Given the description of an element on the screen output the (x, y) to click on. 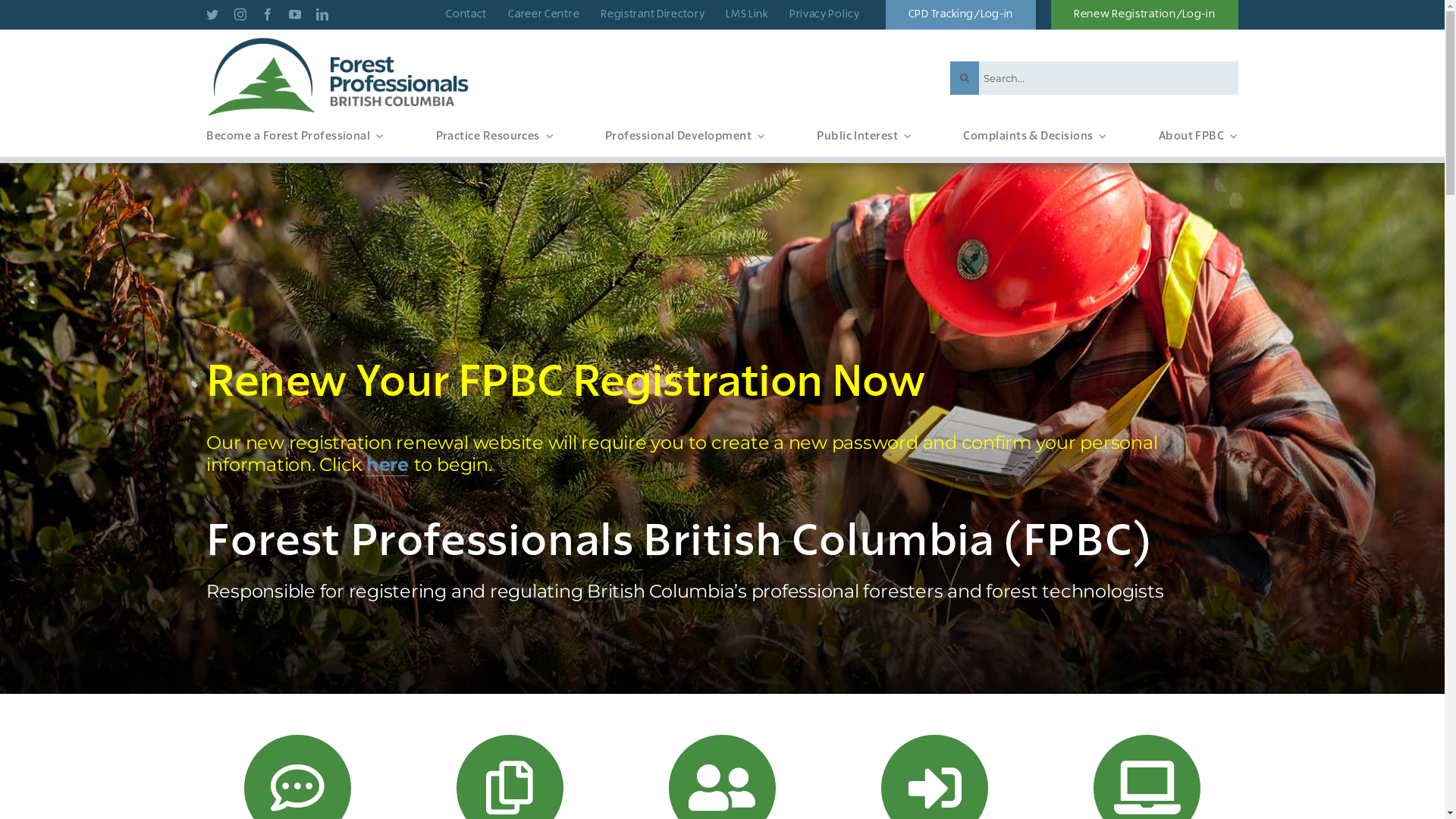
here Element type: text (387, 464)
Become a Forest Professional Element type: text (294, 138)
Registrant Directory Element type: text (652, 15)
Contact Element type: text (466, 15)
Complaints & Decisions Element type: text (1034, 138)
CPD Tracking/Log-in Element type: text (960, 14)
LMS Link Element type: text (746, 15)
Practice Resources Element type: text (494, 138)
About FPBC Element type: text (1198, 138)
Privacy Policy Element type: text (824, 15)
Public Interest Element type: text (863, 138)
Renew Registration/Log-in Element type: text (1144, 14)
Professional Development Element type: text (685, 138)
Career Centre Element type: text (543, 15)
